Given the description of an element on the screen output the (x, y) to click on. 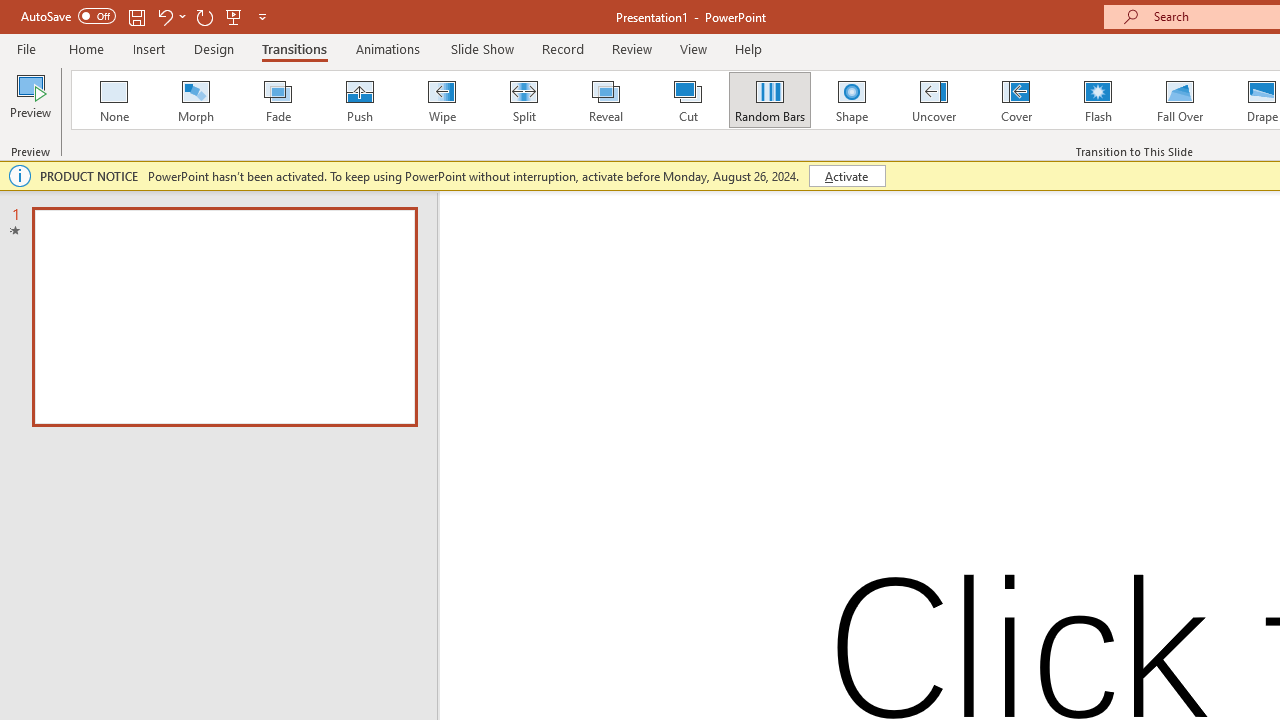
Push (359, 100)
